Given the description of an element on the screen output the (x, y) to click on. 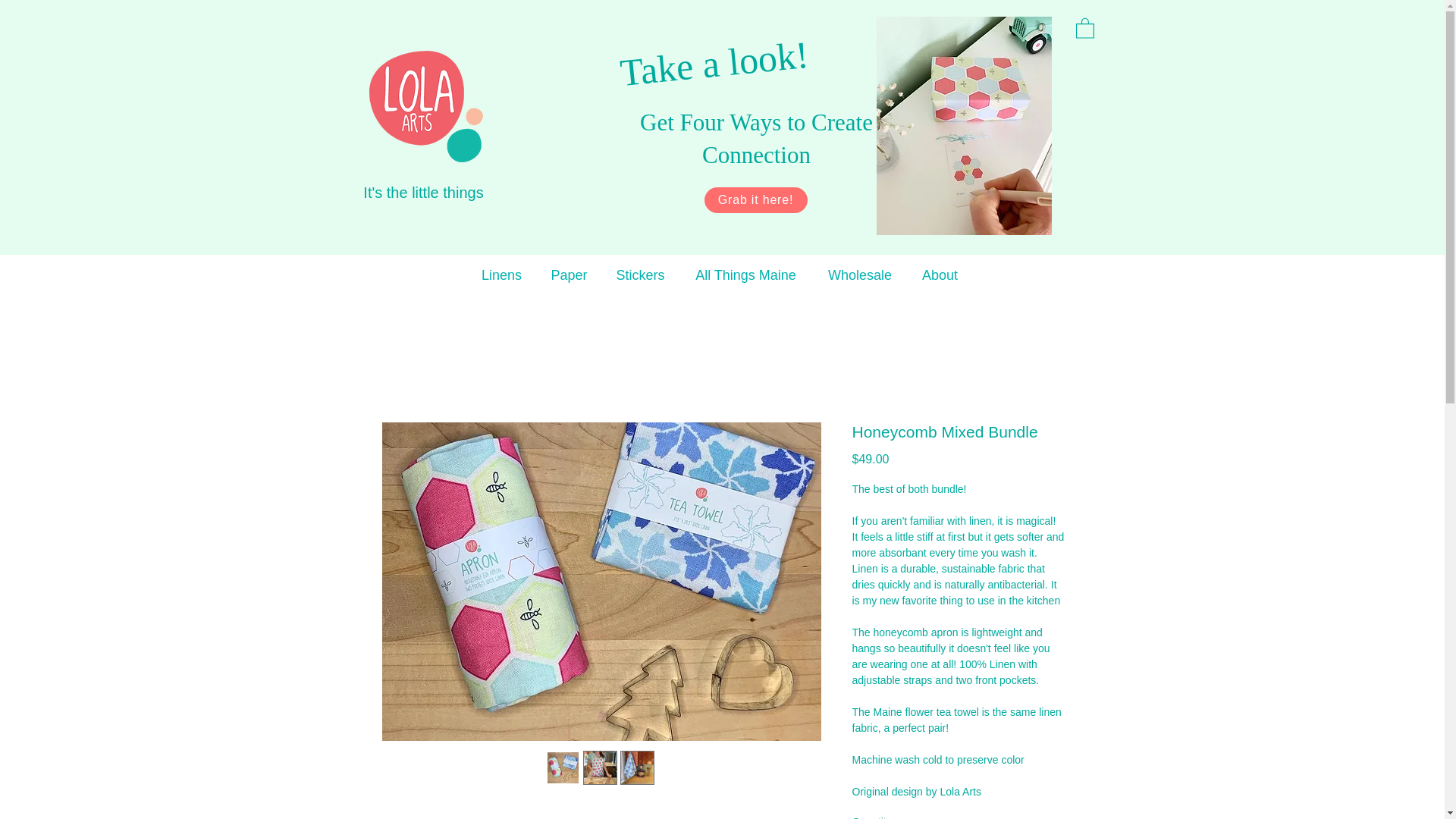
Grab it here! (754, 199)
Stickers (640, 275)
All Things Maine (745, 275)
Wholesale (859, 275)
About (939, 275)
